Given the description of an element on the screen output the (x, y) to click on. 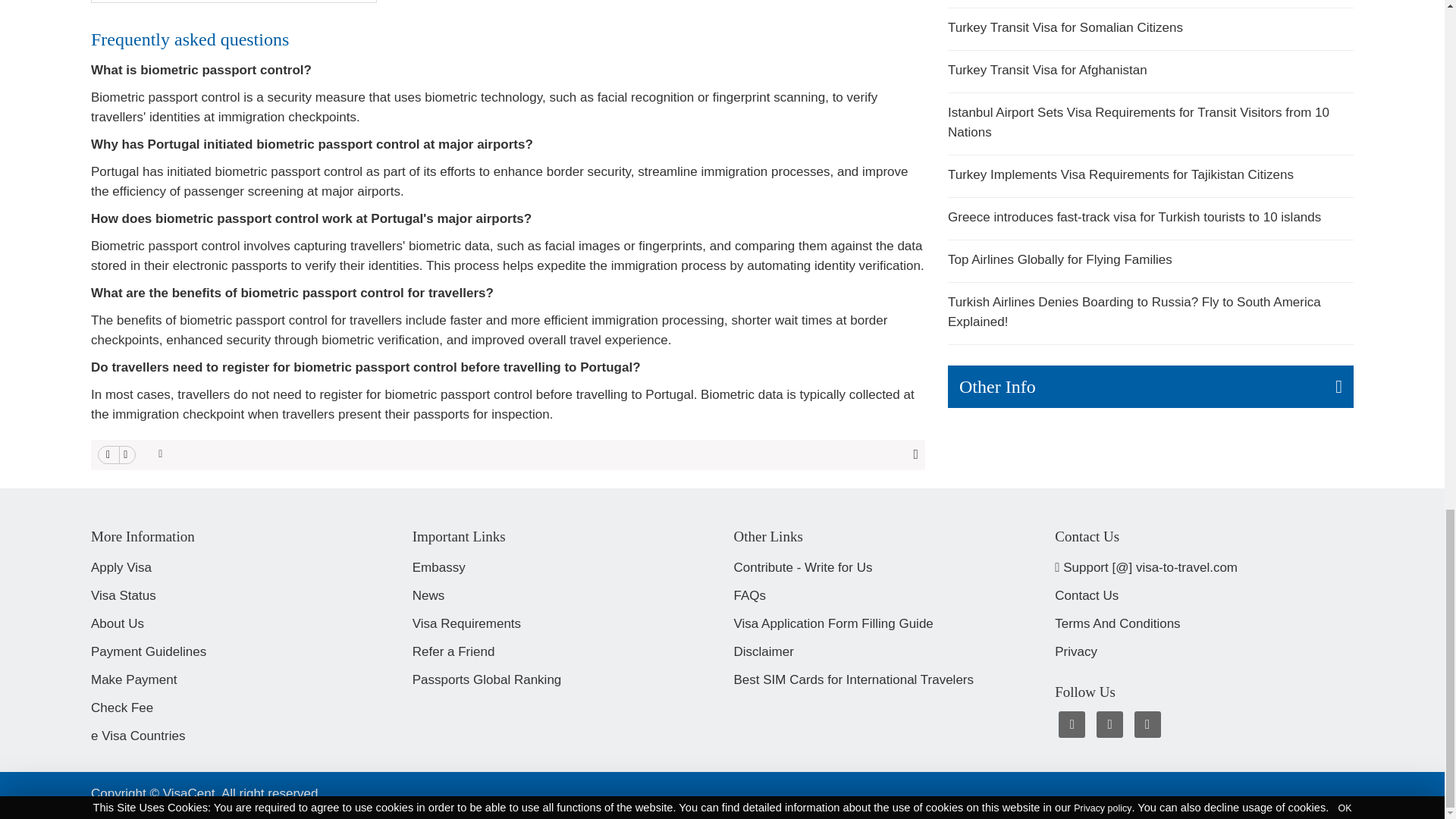
Apply e-Visa (128, 567)
Portugal's Biometric Tech Transforms Airport Experience (233, 1)
